Given the description of an element on the screen output the (x, y) to click on. 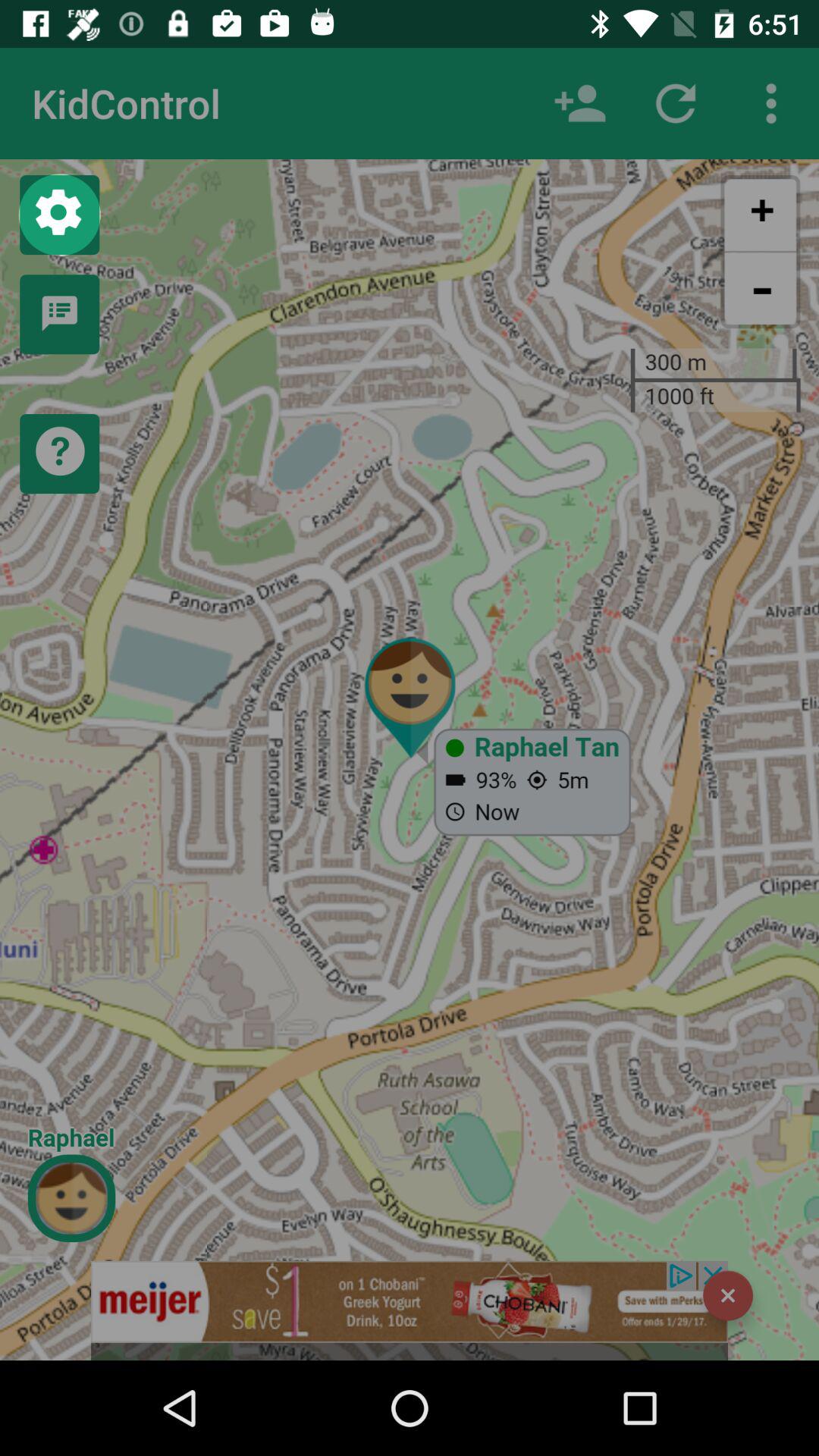
cancel advertisement option (727, 1295)
